Given the description of an element on the screen output the (x, y) to click on. 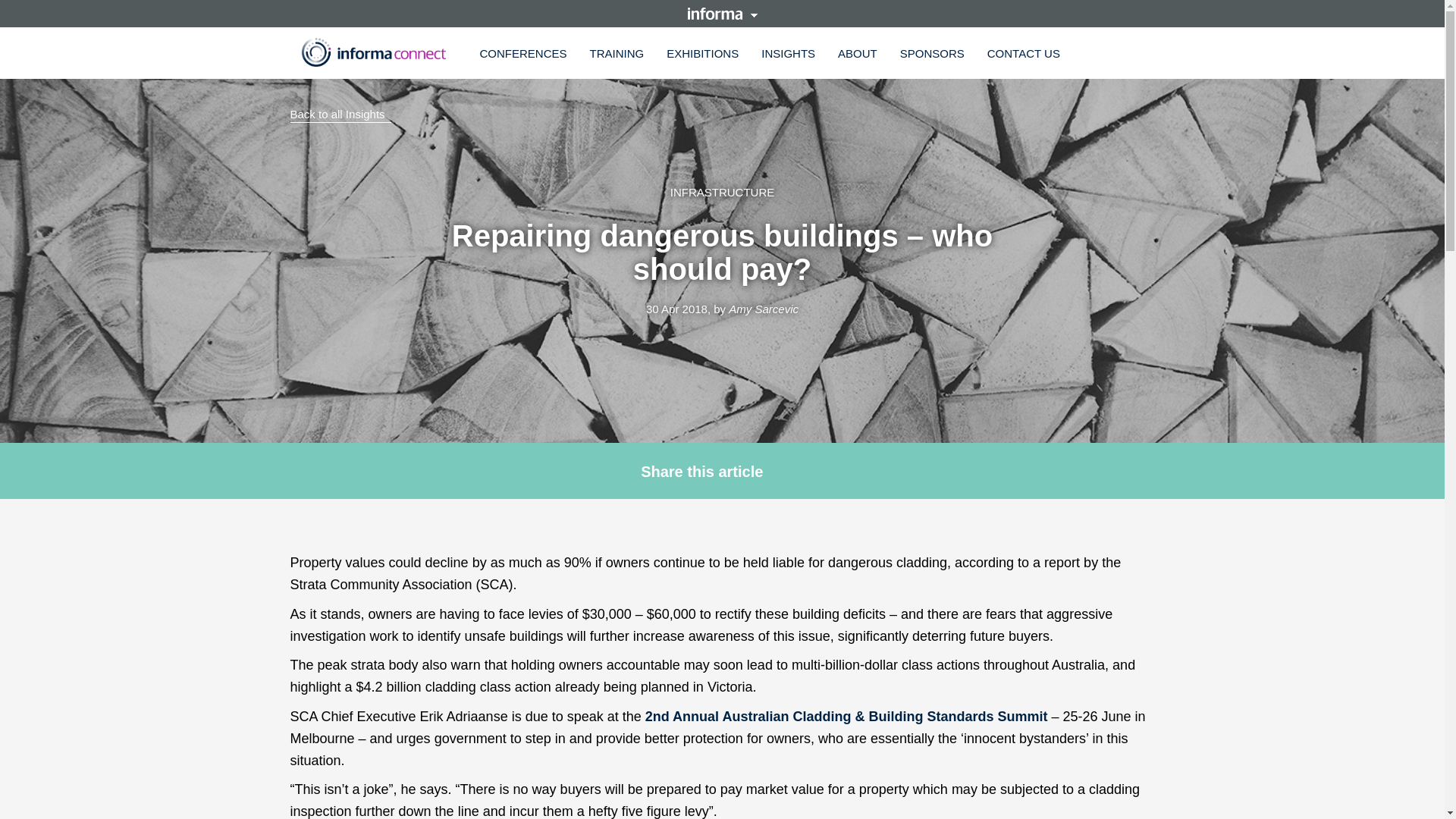
Informa (373, 51)
CONFERENCES (523, 53)
SPONSORS (931, 53)
ABOUT (857, 53)
INSIGHTS (788, 53)
CONTACT US (1023, 53)
INFRASTRUCTURE (721, 192)
TRAINING (617, 53)
informa (722, 13)
EXHIBITIONS (702, 53)
